Given the description of an element on the screen output the (x, y) to click on. 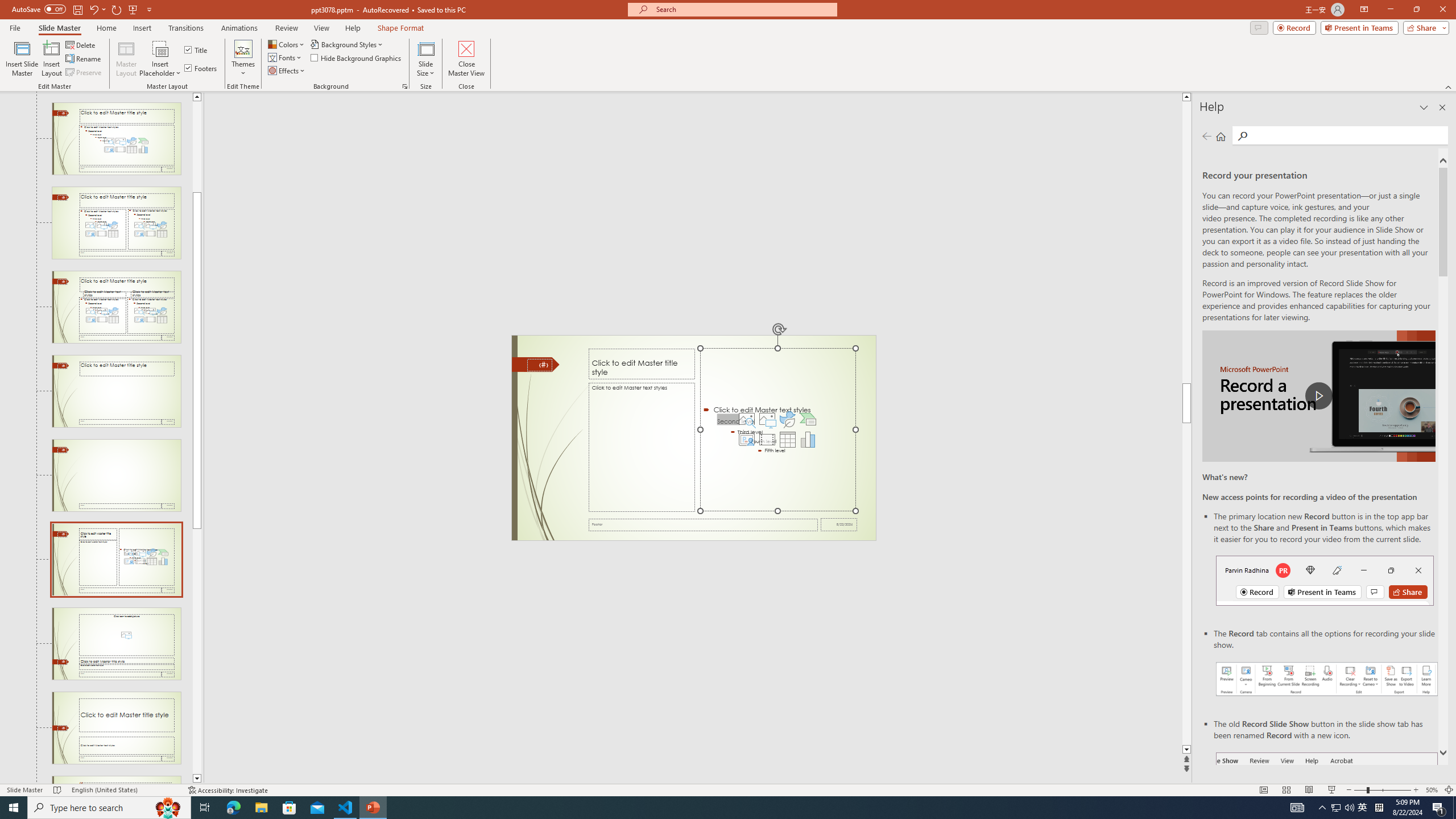
Accessibility Checker Accessibility: Investigate (228, 790)
Hide Background Graphics (356, 56)
Slide Content with Caption Layout: used by no slides (116, 559)
Quick Access Toolbar (82, 9)
Footer (703, 524)
Animations (239, 28)
play Record a Presentation (1318, 395)
Spell Check No Errors (57, 790)
Collapse the Ribbon (1448, 86)
Undo (92, 9)
AutoSave (38, 9)
Insert Cameo (746, 439)
Slide Size (425, 58)
